Given the description of an element on the screen output the (x, y) to click on. 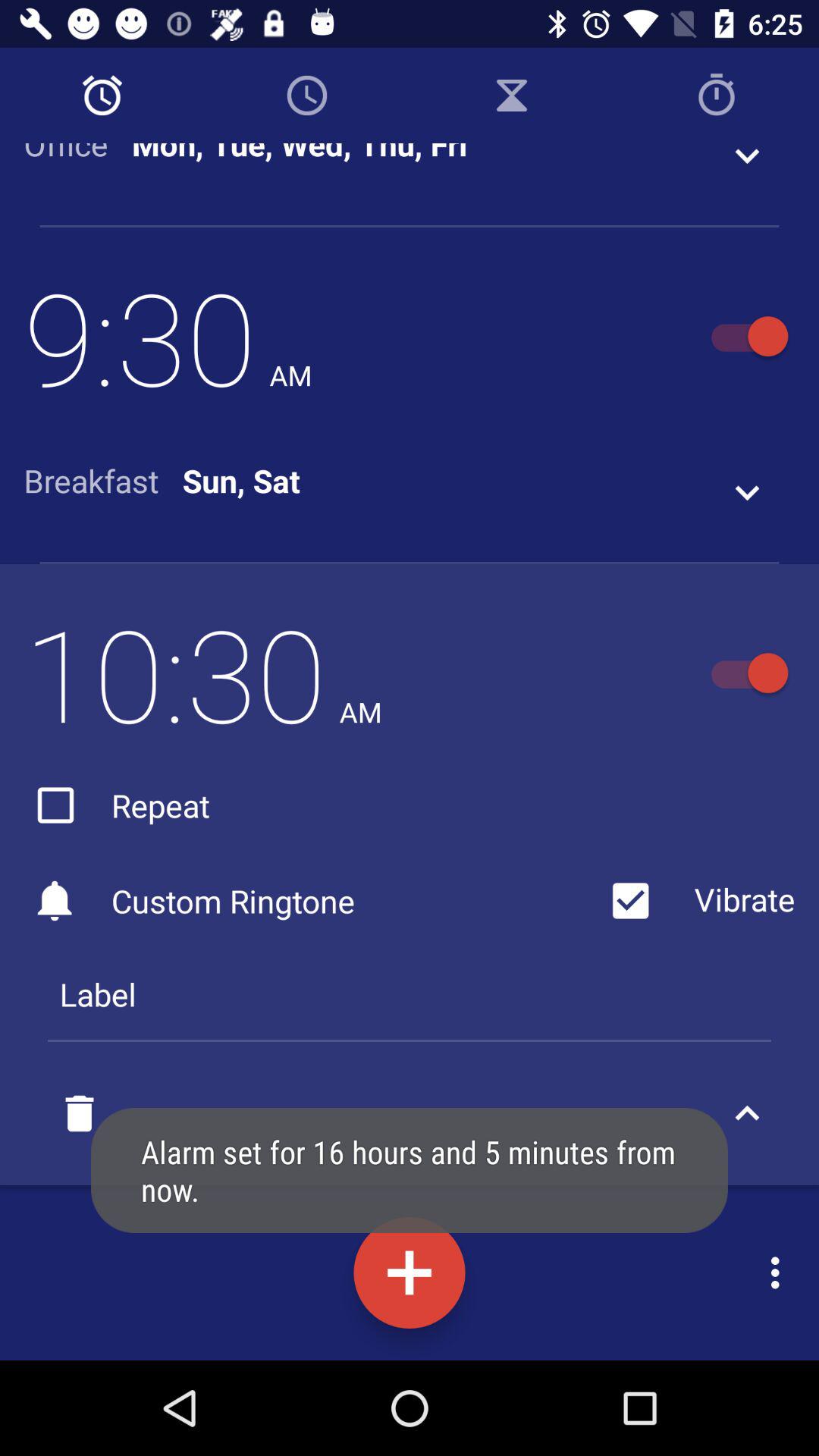
scroll to the custom ringtone (310, 900)
